Given the description of an element on the screen output the (x, y) to click on. 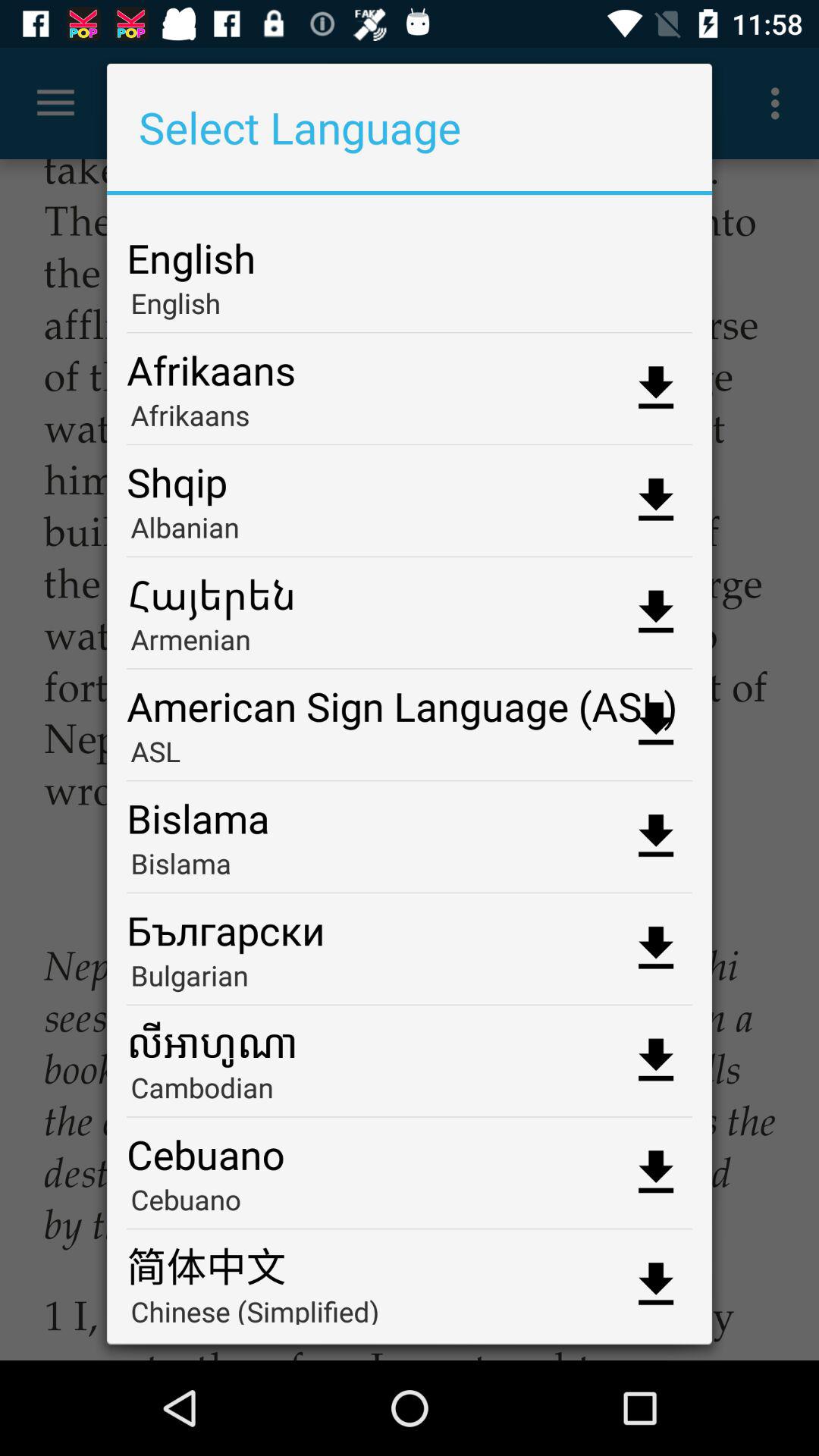
launch albanian item (409, 532)
